Given the description of an element on the screen output the (x, y) to click on. 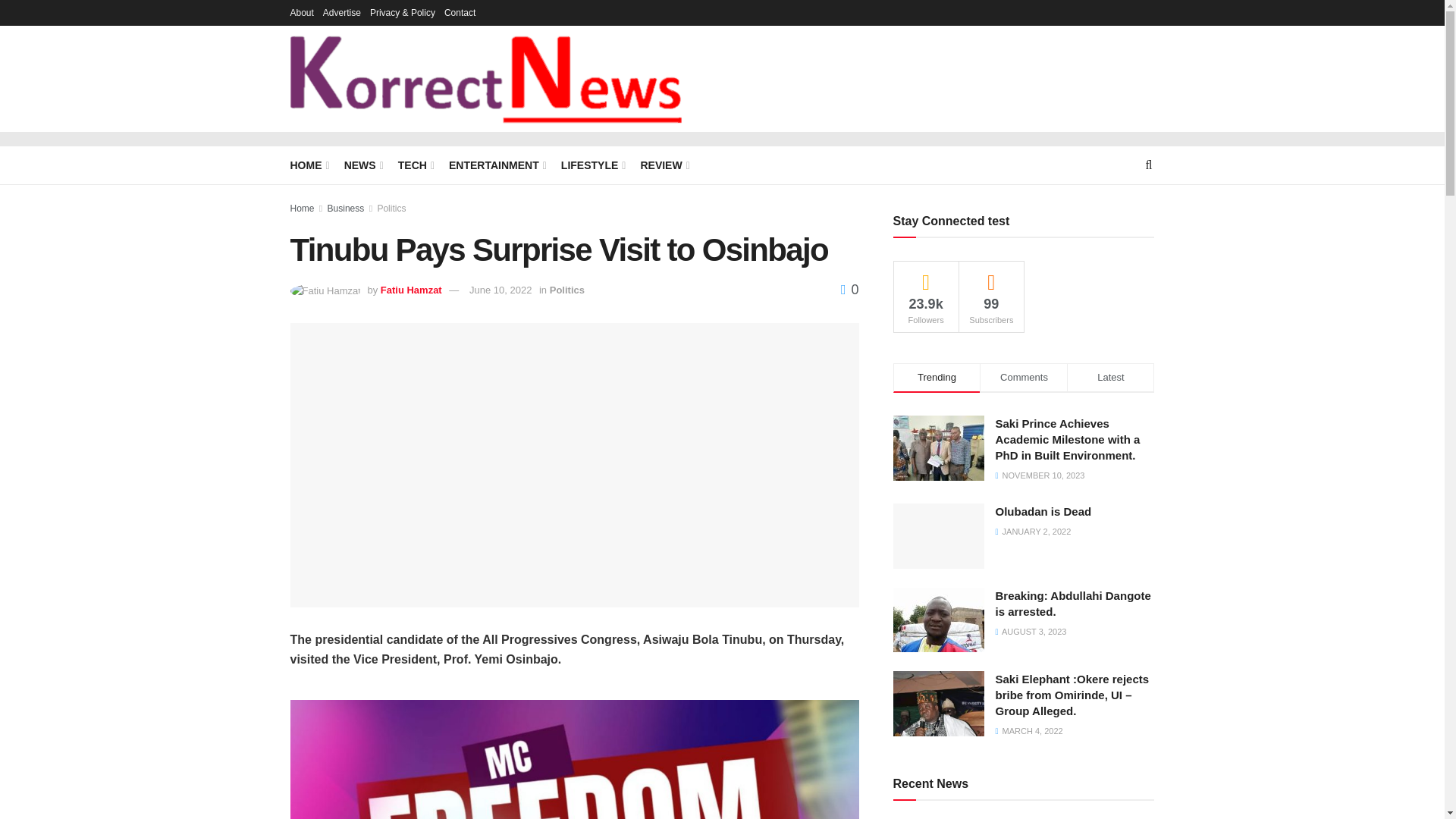
About (301, 12)
HOME (307, 165)
Contact (460, 12)
Advertise (342, 12)
NEWS (362, 165)
TECH (414, 165)
